Given the description of an element on the screen output the (x, y) to click on. 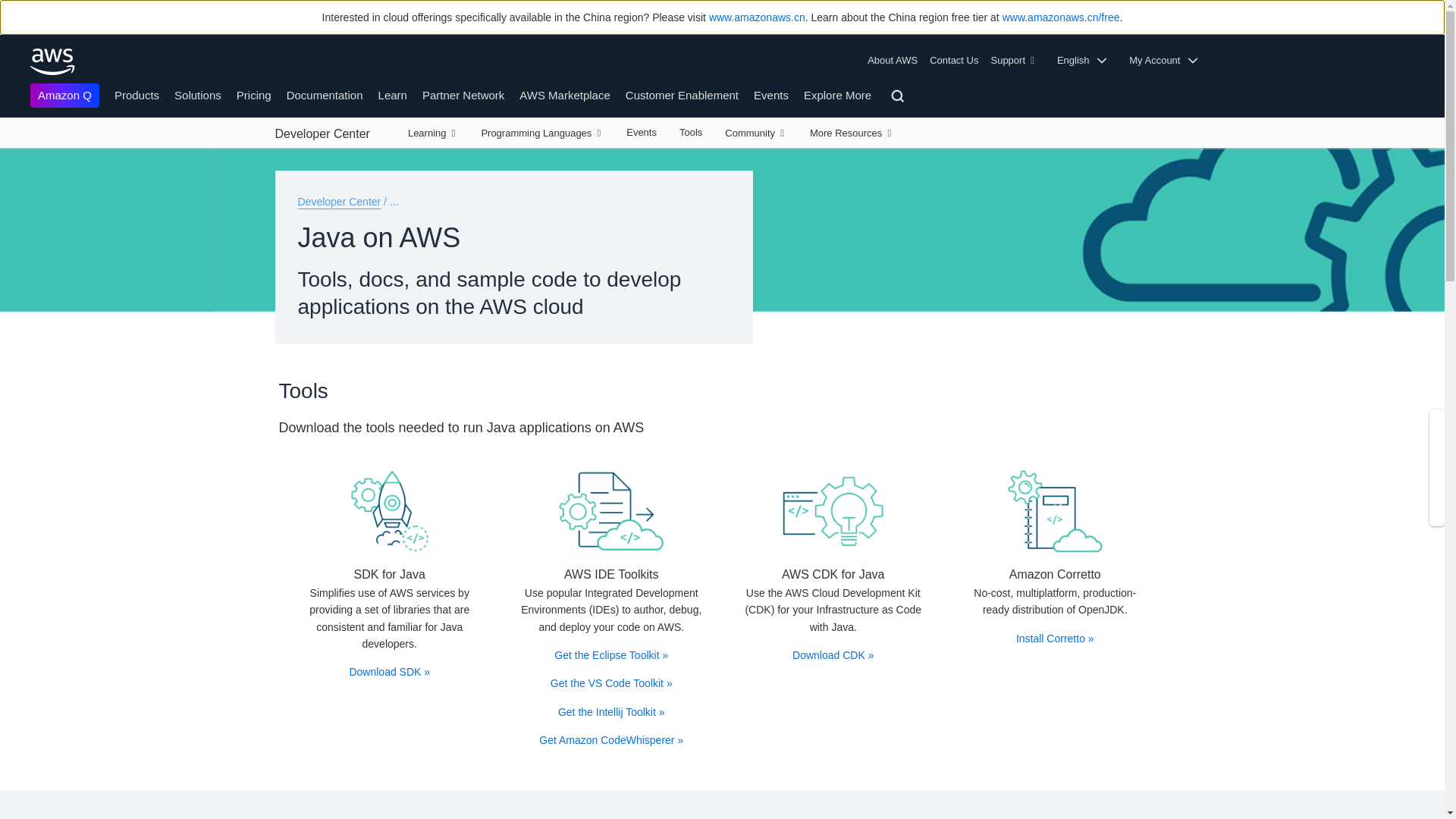
Contact Us (953, 60)
Skip to main content (7, 154)
Products (136, 94)
Solutions (833, 511)
www.amazonaws.cn (757, 17)
Support  (1016, 60)
Click here to return to Amazon Web Services homepage (52, 61)
AWS Marketplace (564, 94)
Learn (392, 94)
Digital Library (1054, 511)
Services (611, 511)
Events (771, 94)
Solutions (197, 94)
Amazon Q (64, 95)
About AWS (895, 60)
